Given the description of an element on the screen output the (x, y) to click on. 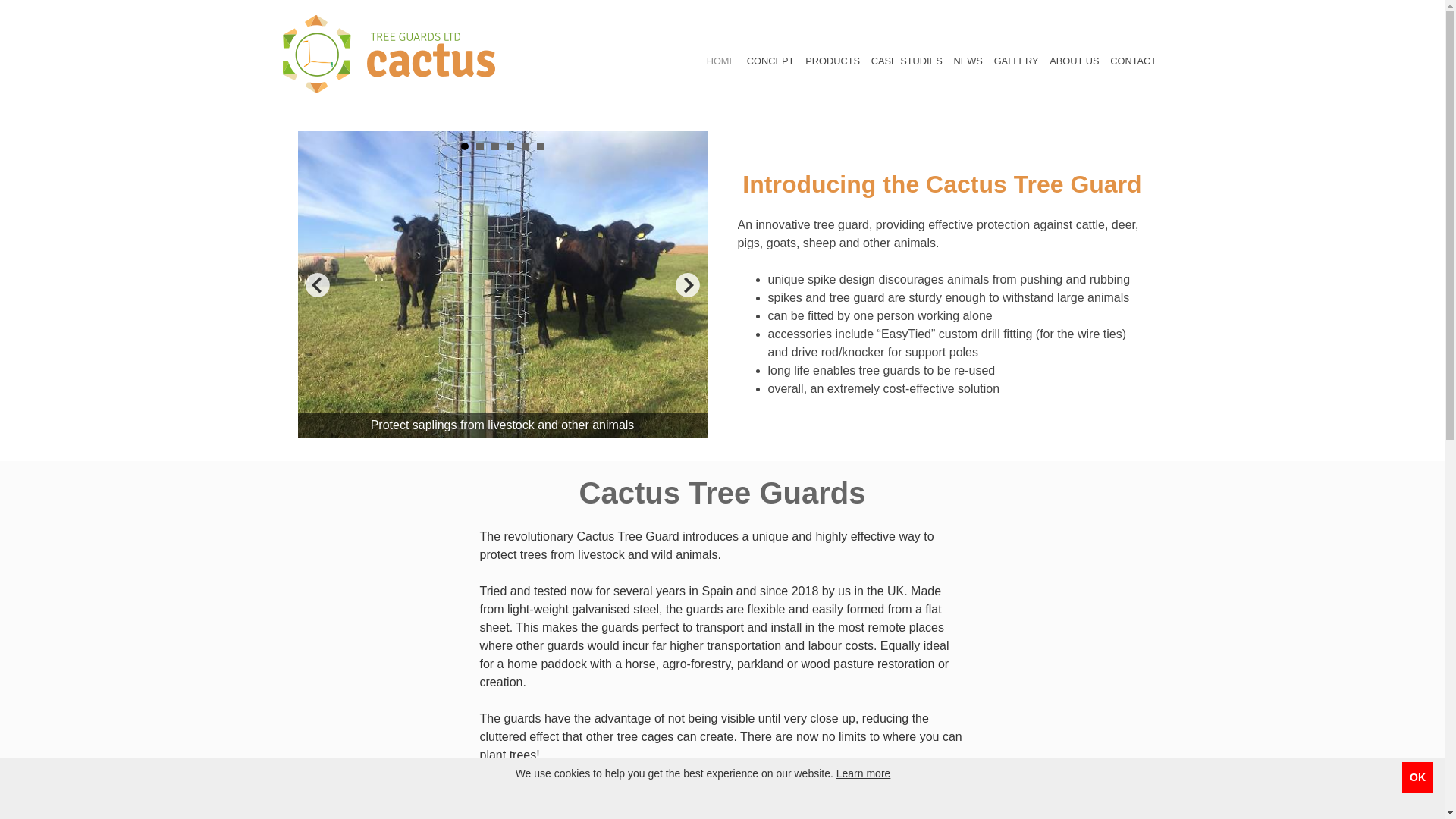
CONCEPT (770, 61)
ABOUT US (1074, 61)
2 (479, 145)
PRODUCTS (832, 61)
6 (540, 145)
1 (464, 145)
Prev (316, 284)
Next (686, 284)
GALLERY (1015, 61)
3 (495, 145)
NEWS (967, 61)
HOME (720, 61)
CASE STUDIES (905, 61)
4 (509, 145)
